Given the description of an element on the screen output the (x, y) to click on. 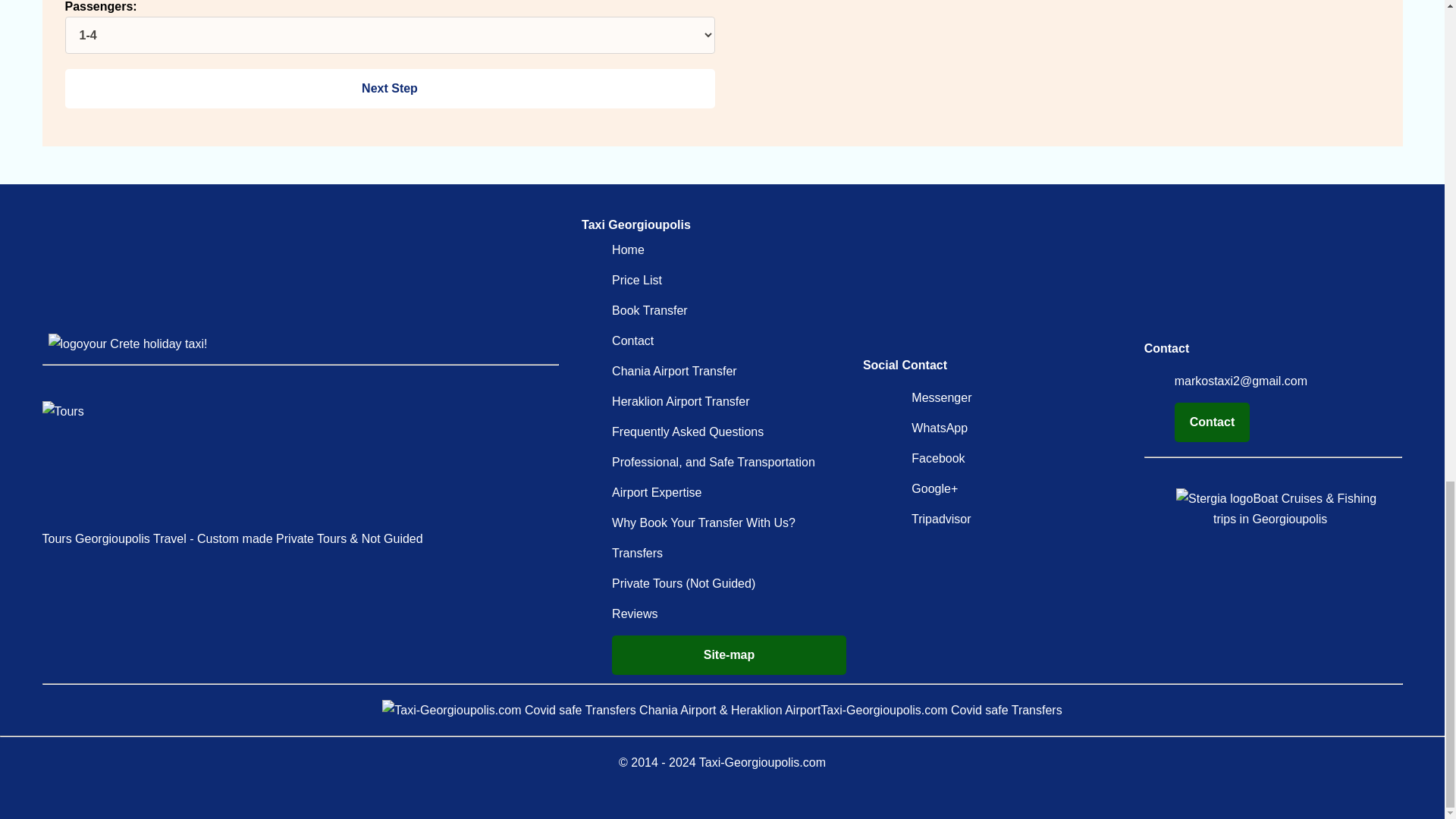
Frequently Asked Questions (686, 431)
Chania Airport Transfer (673, 370)
Contact (632, 340)
your Crete holiday taxi! (128, 343)
Book Transfer (649, 309)
Price List (636, 279)
Professional, and Safe Transportation (713, 461)
Home (628, 249)
Heraklion Airport Transfer (680, 400)
